Given the description of an element on the screen output the (x, y) to click on. 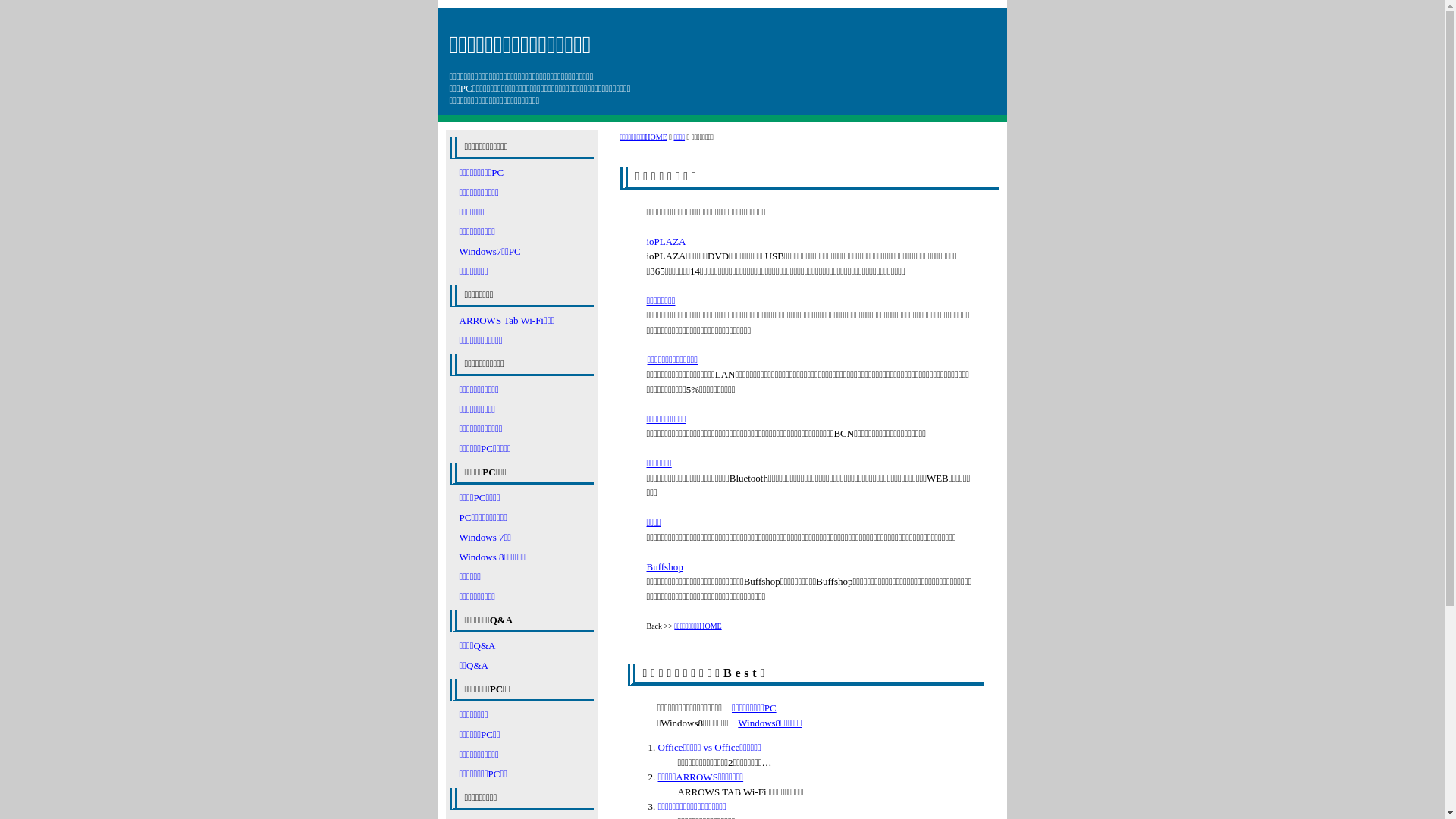
Buffshop Element type: text (664, 566)
ioPLAZA Element type: text (665, 240)
